Given the description of an element on the screen output the (x, y) to click on. 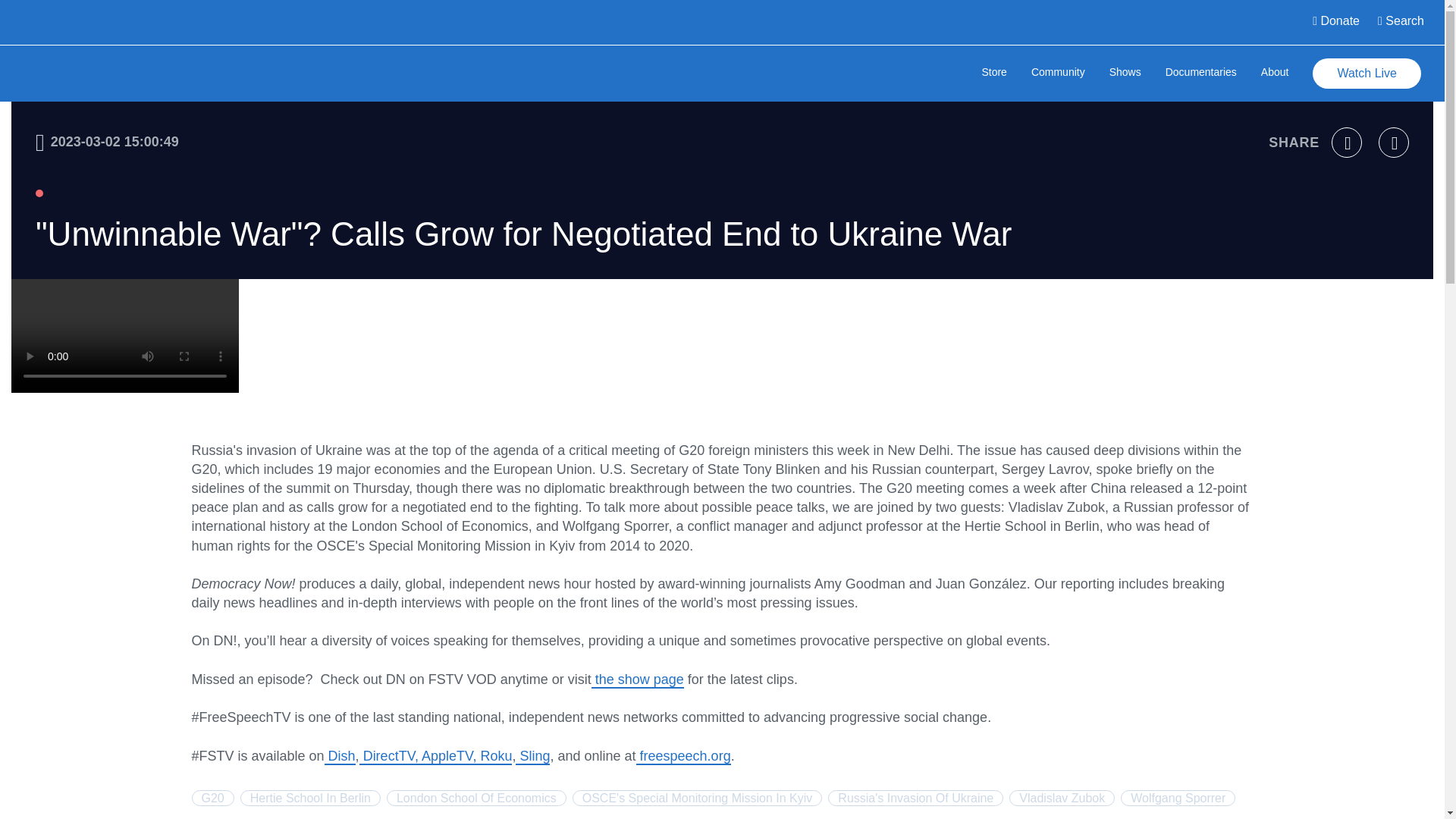
Donate (1335, 22)
Community (1057, 72)
Documentaries (1201, 72)
Search (1400, 22)
Watch Live (1367, 73)
